Given the description of an element on the screen output the (x, y) to click on. 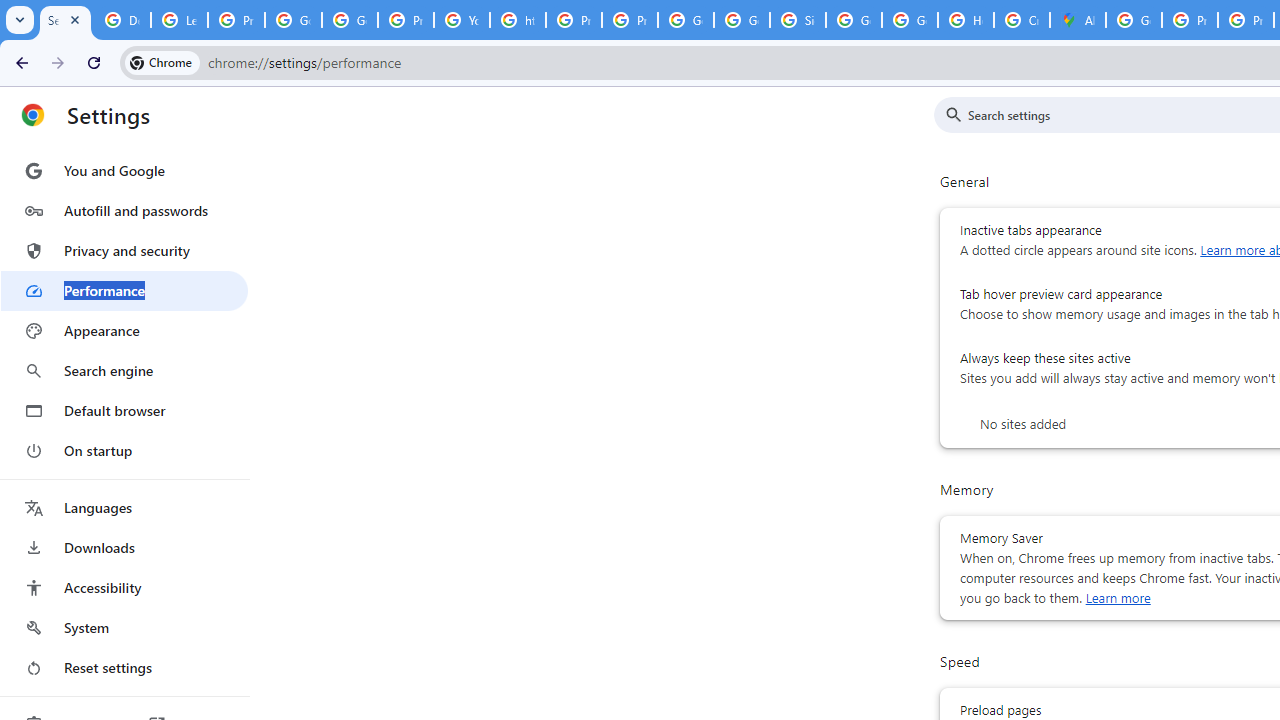
Downloads (124, 547)
Languages (124, 507)
Google Account Help (349, 20)
Learn how to find your photos - Google Photos Help (179, 20)
On startup (124, 450)
YouTube (461, 20)
Sign in - Google Accounts (797, 20)
Autofill and passwords (124, 210)
Privacy Help Center - Policies Help (573, 20)
Appearance (124, 331)
